Given the description of an element on the screen output the (x, y) to click on. 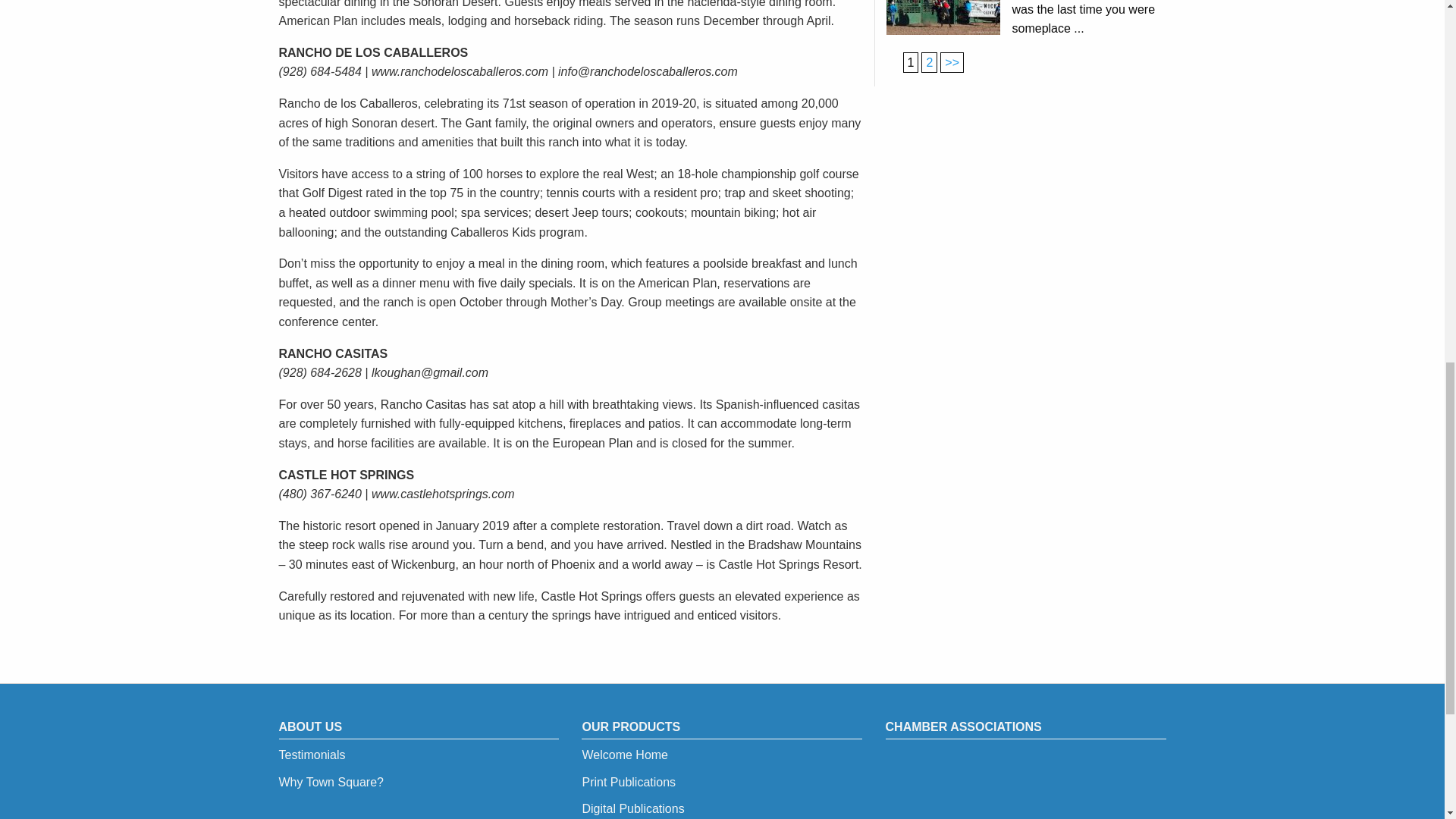
Testimonials (312, 754)
Print Publications (627, 781)
2 (929, 62)
Why Town Square? (331, 781)
2 (951, 62)
Welcome Home (624, 754)
Digital Publications (632, 808)
2 (929, 62)
